Given the description of an element on the screen output the (x, y) to click on. 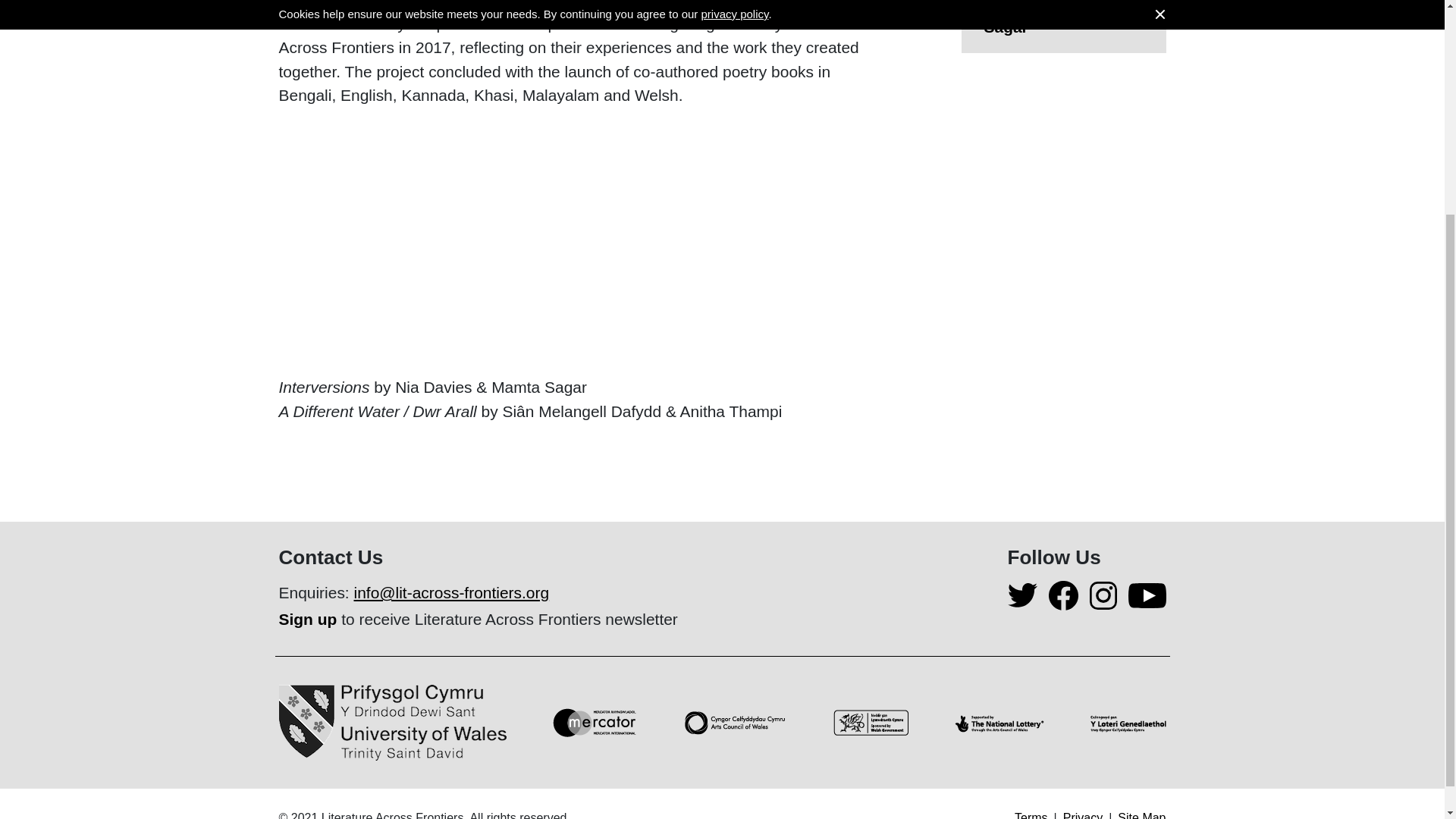
YouTube video player (491, 237)
